Given the description of an element on the screen output the (x, y) to click on. 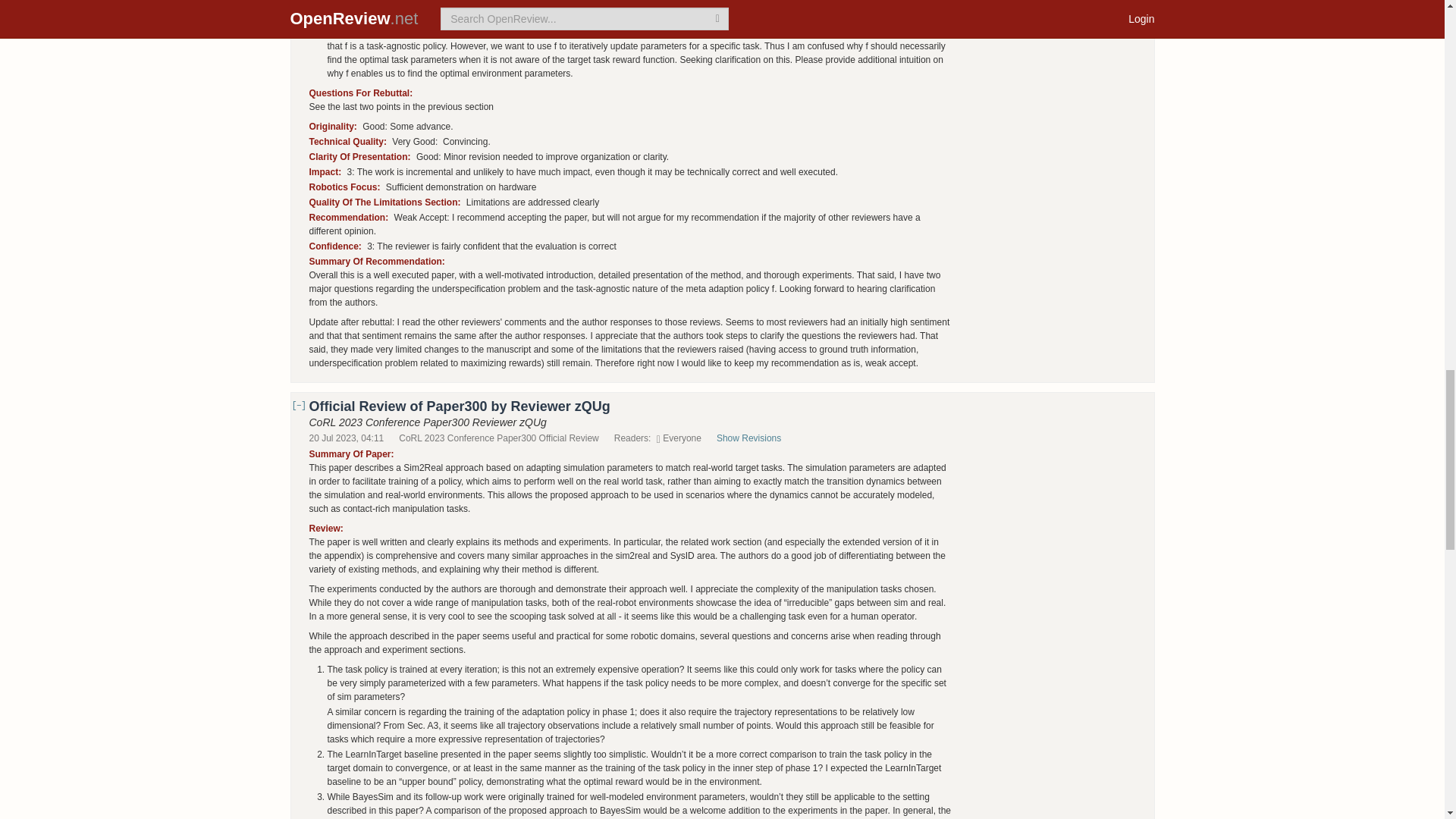
Show Revisions (756, 438)
